Given the description of an element on the screen output the (x, y) to click on. 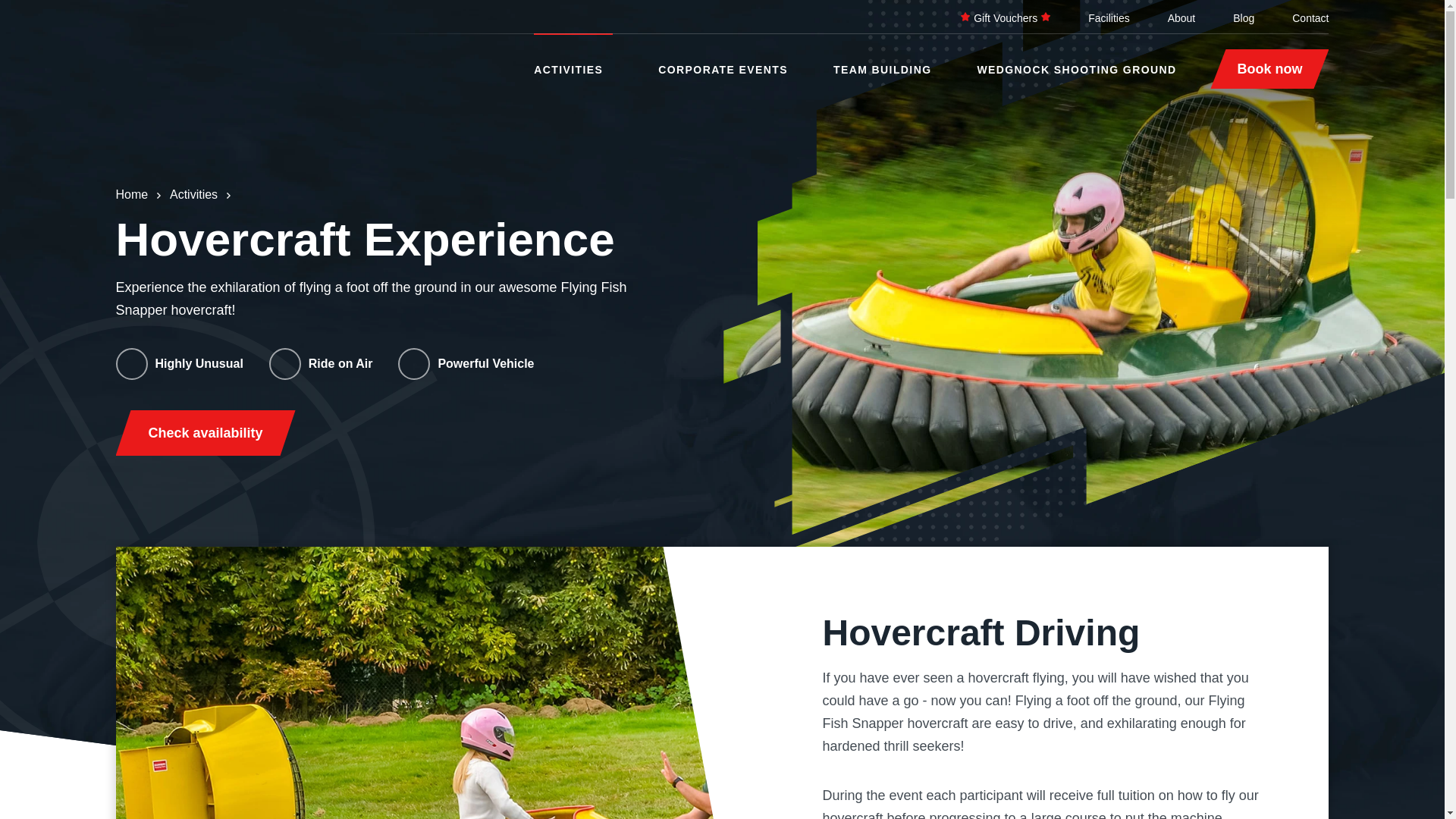
Check availability (205, 432)
CORPORATE EVENTS (722, 65)
Facilities (1108, 19)
About (1181, 19)
Gift Vouchers (1005, 19)
Home (131, 194)
Blog (1243, 19)
WEDGNOCK SHOOTING GROUND (1076, 65)
Adventure Sports (240, 52)
ACTIVITIES (568, 69)
TEAM BUILDING (881, 65)
Open (608, 68)
Contact (1309, 19)
Book now (1268, 68)
Activities (193, 194)
